Given the description of an element on the screen output the (x, y) to click on. 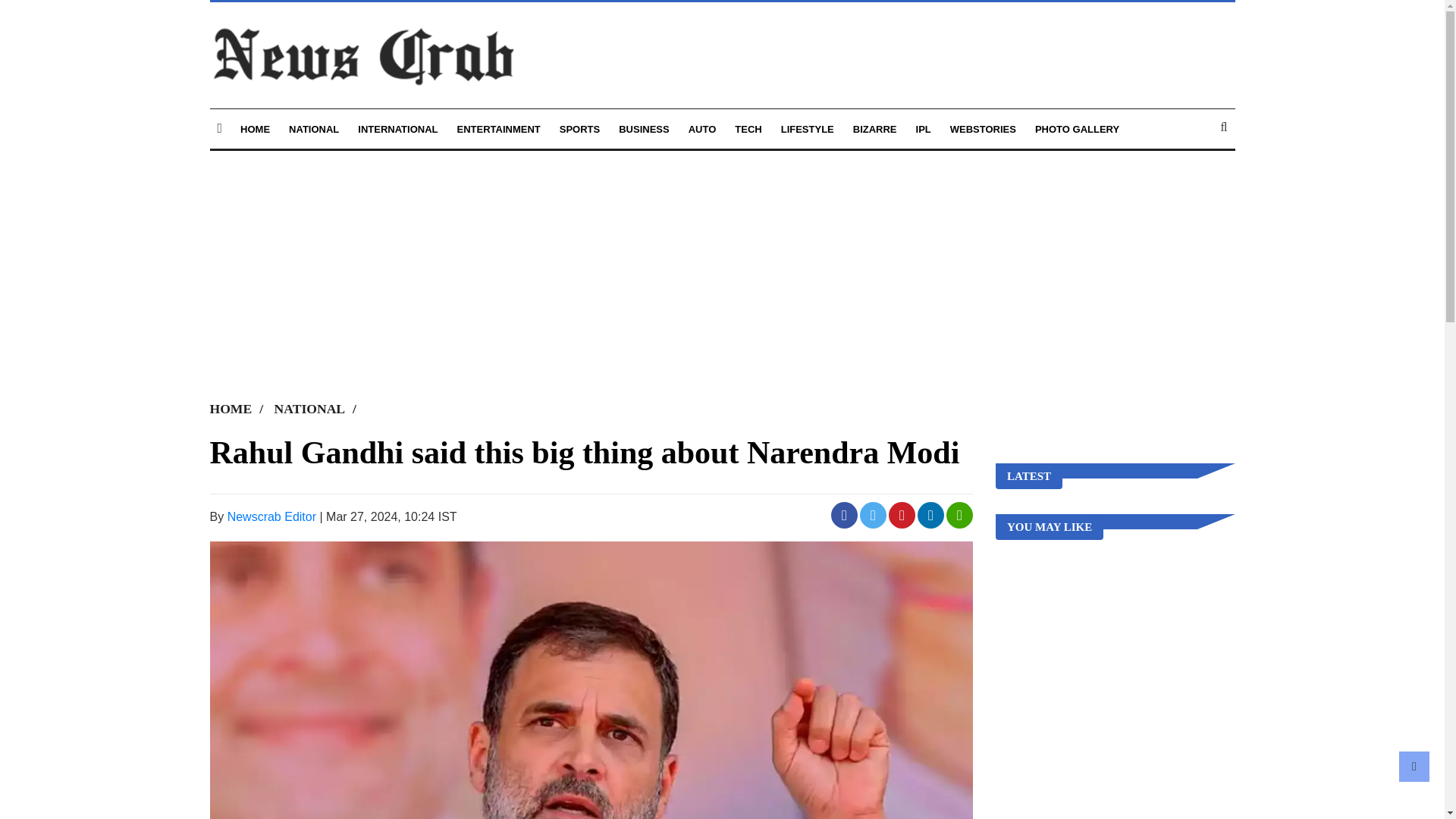
HOME (254, 129)
INTERNATIONAL (398, 129)
IPL (923, 129)
HOME (239, 408)
BIZARRE (874, 129)
ENTERTAINMENT (498, 129)
NATIONAL (319, 408)
BUSINESS (643, 129)
AUTO (702, 129)
Newscrab Editor (271, 516)
